Given the description of an element on the screen output the (x, y) to click on. 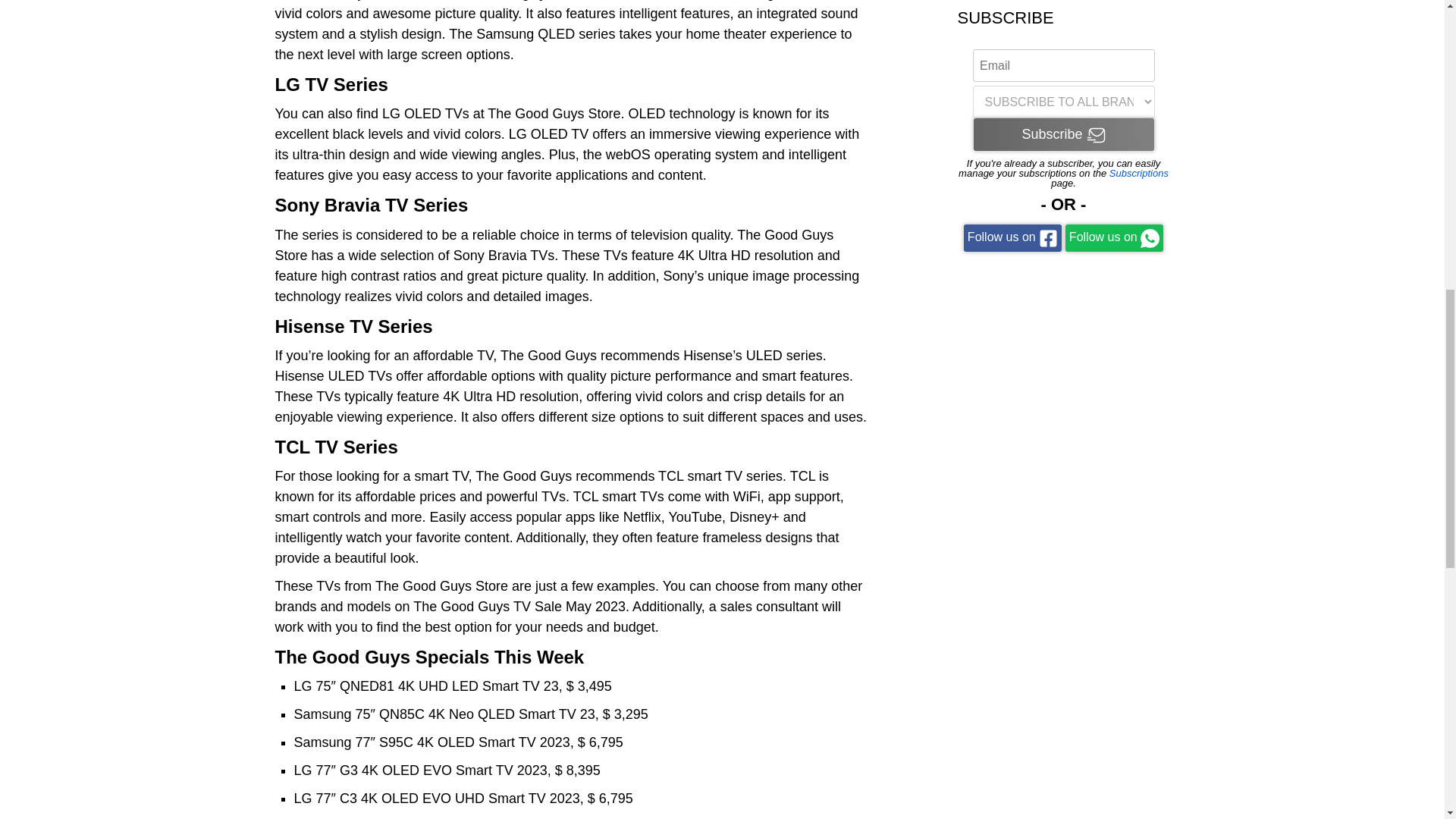
Subscriptions (1139, 173)
Subscribe (1064, 133)
Follow us on (1012, 237)
Follow us on (1114, 237)
